Given the description of an element on the screen output the (x, y) to click on. 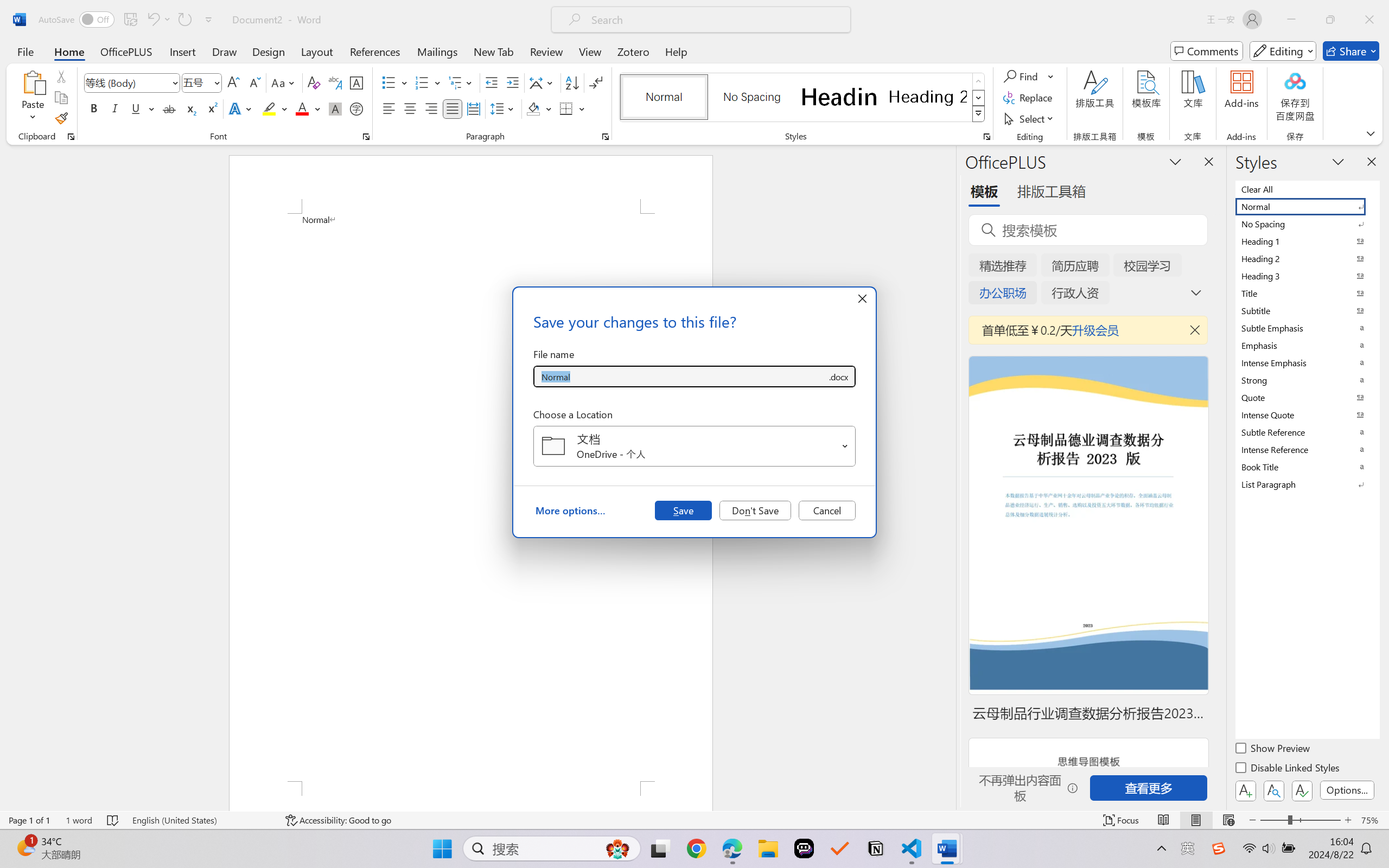
Class: NetUIButton (1301, 790)
Share (1350, 51)
Heading 3 (1306, 275)
AutomationID: BadgeAnchorLargeTicker (24, 847)
Shading (539, 108)
Increase Indent (512, 82)
OfficePLUS (126, 51)
Enclose Characters... (356, 108)
Design (268, 51)
Sort... (571, 82)
Language English (United States) (201, 819)
Numbering (428, 82)
Format Painter (60, 118)
